Given the description of an element on the screen output the (x, y) to click on. 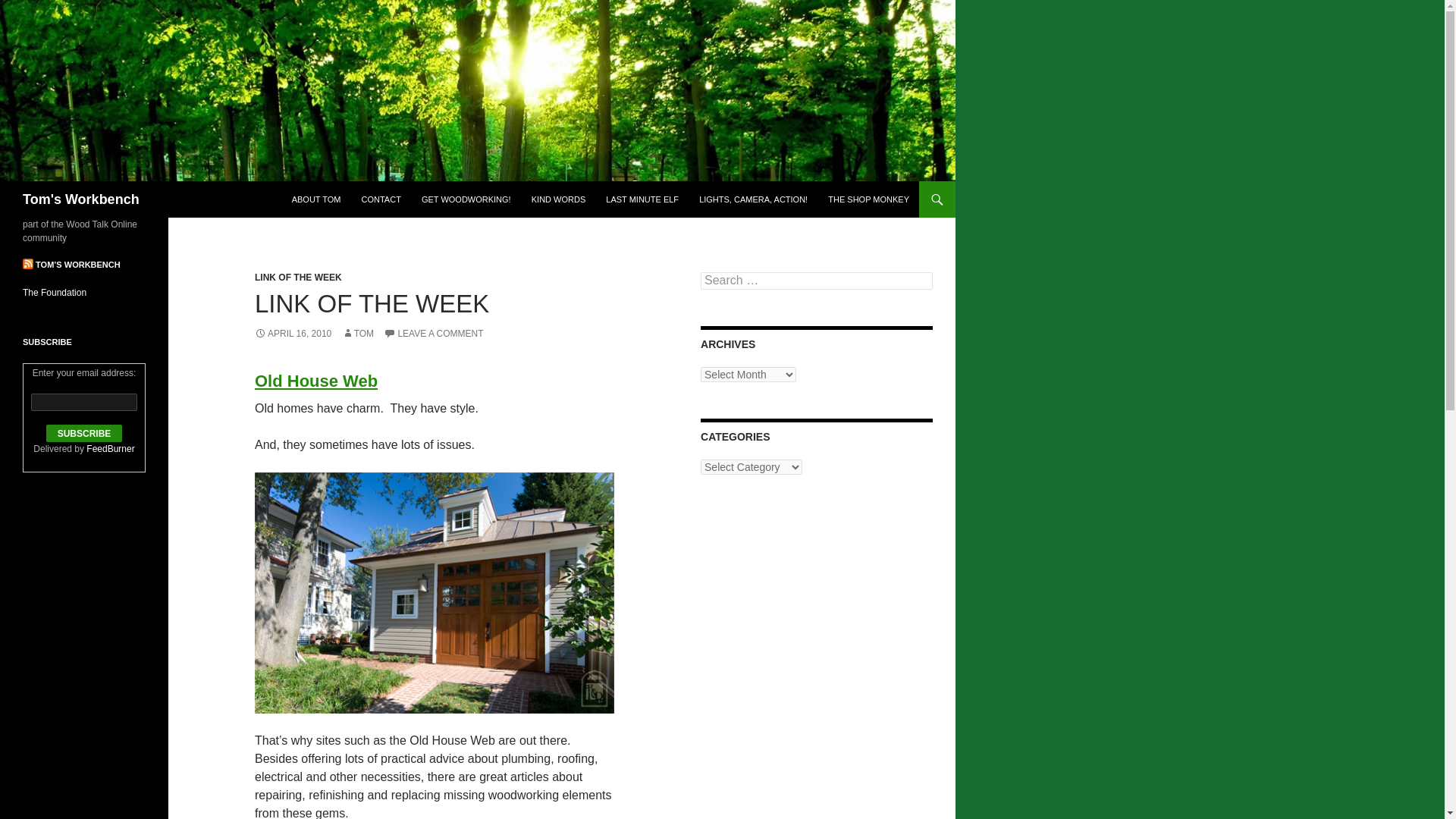
APRIL 16, 2010 (292, 333)
LIGHTS, CAMERA, ACTION! (753, 198)
KIND WORDS (558, 198)
Subscribe (84, 433)
LINK OF THE WEEK (298, 276)
CONTACT (381, 198)
THE SHOP MONKEY (868, 198)
Subscribe (84, 433)
A charming old house (434, 592)
FeedBurner (109, 448)
Search (30, 8)
GET WOODWORKING! (465, 198)
LAST MINUTE ELF (641, 198)
